Given the description of an element on the screen output the (x, y) to click on. 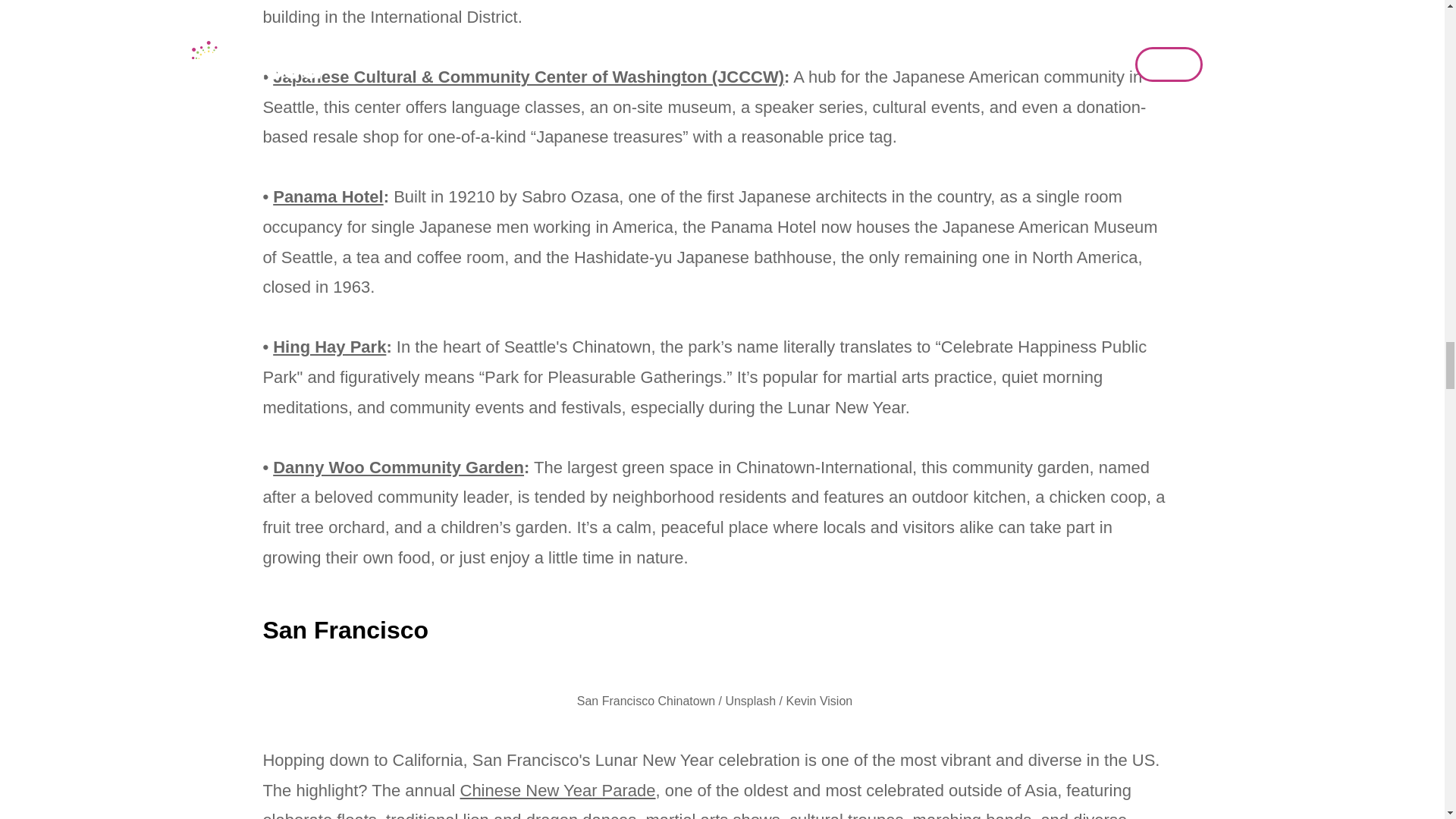
Chinese New Year Parade (557, 790)
Danny Woo Community Garden (398, 466)
Panama Hotel (328, 196)
Hing Hay Park (329, 346)
